Given the description of an element on the screen output the (x, y) to click on. 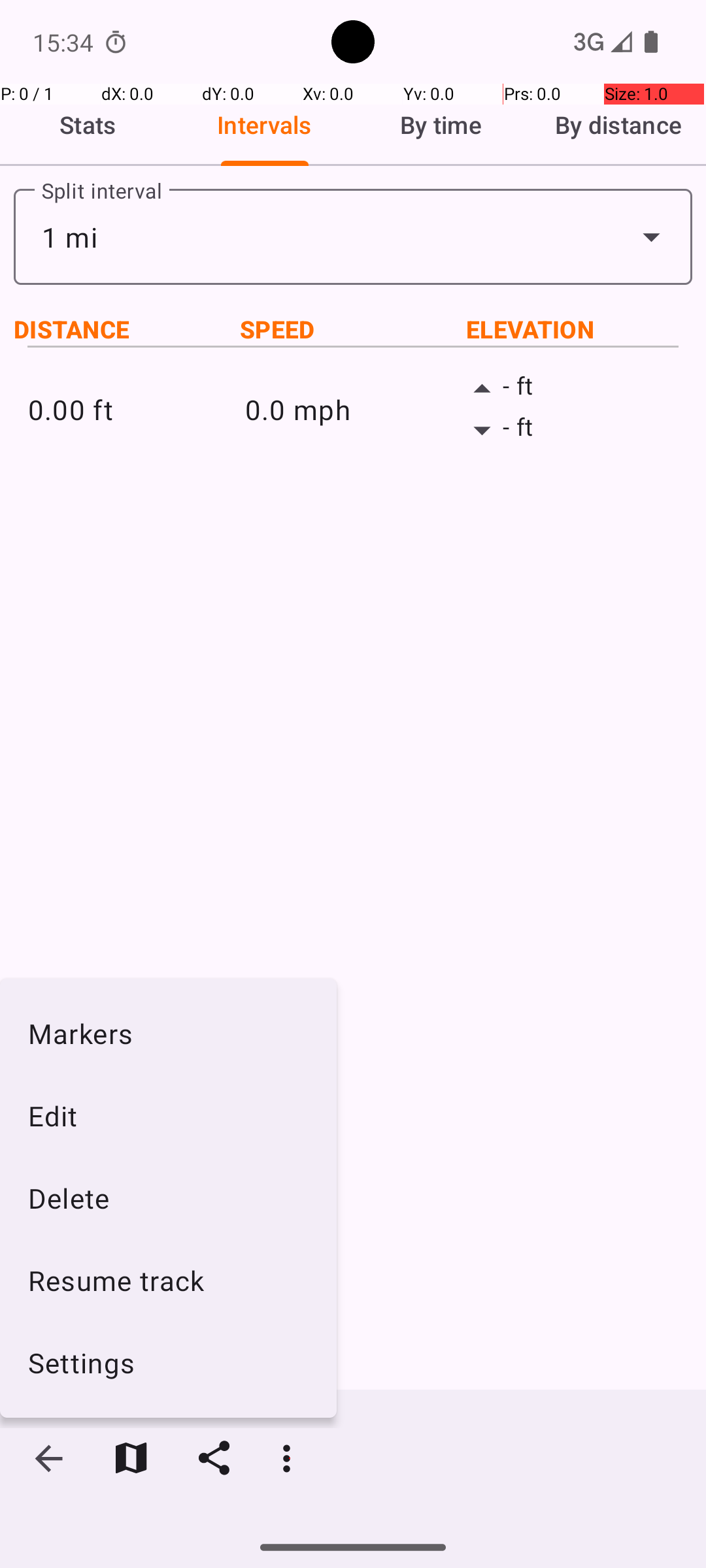
Resume track Element type: android.widget.TextView (168, 1279)
